Given the description of an element on the screen output the (x, y) to click on. 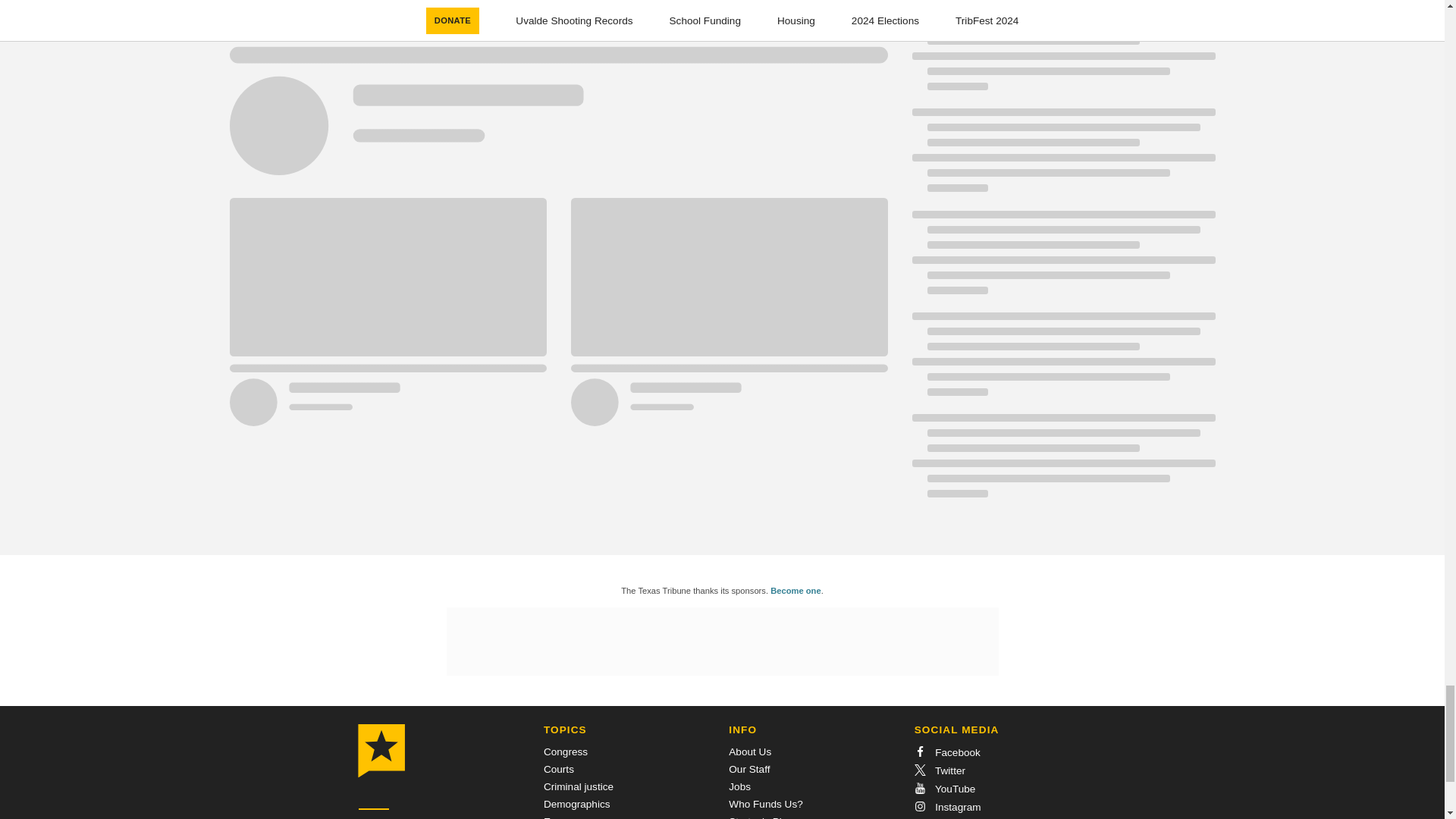
Loading indicator (557, 97)
About Us (750, 751)
Strategic Plan (761, 817)
Who Funds Us? (765, 803)
